Given the description of an element on the screen output the (x, y) to click on. 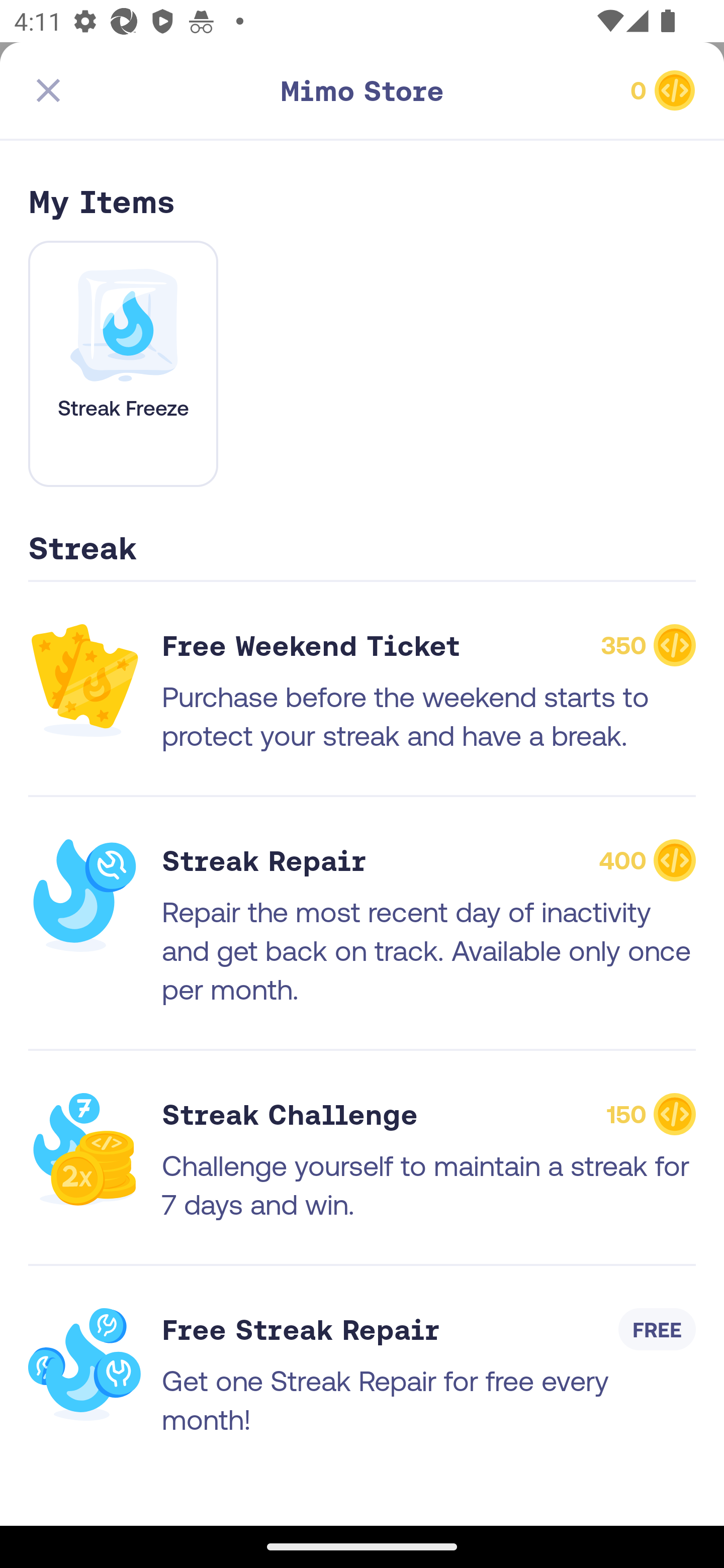
Close (47, 90)
Path Toolbar Image 0 (361, 90)
Path Toolbar Image 0 (588, 90)
Path Toolbar Selector Full-stack Development (361, 175)
